Given the description of an element on the screen output the (x, y) to click on. 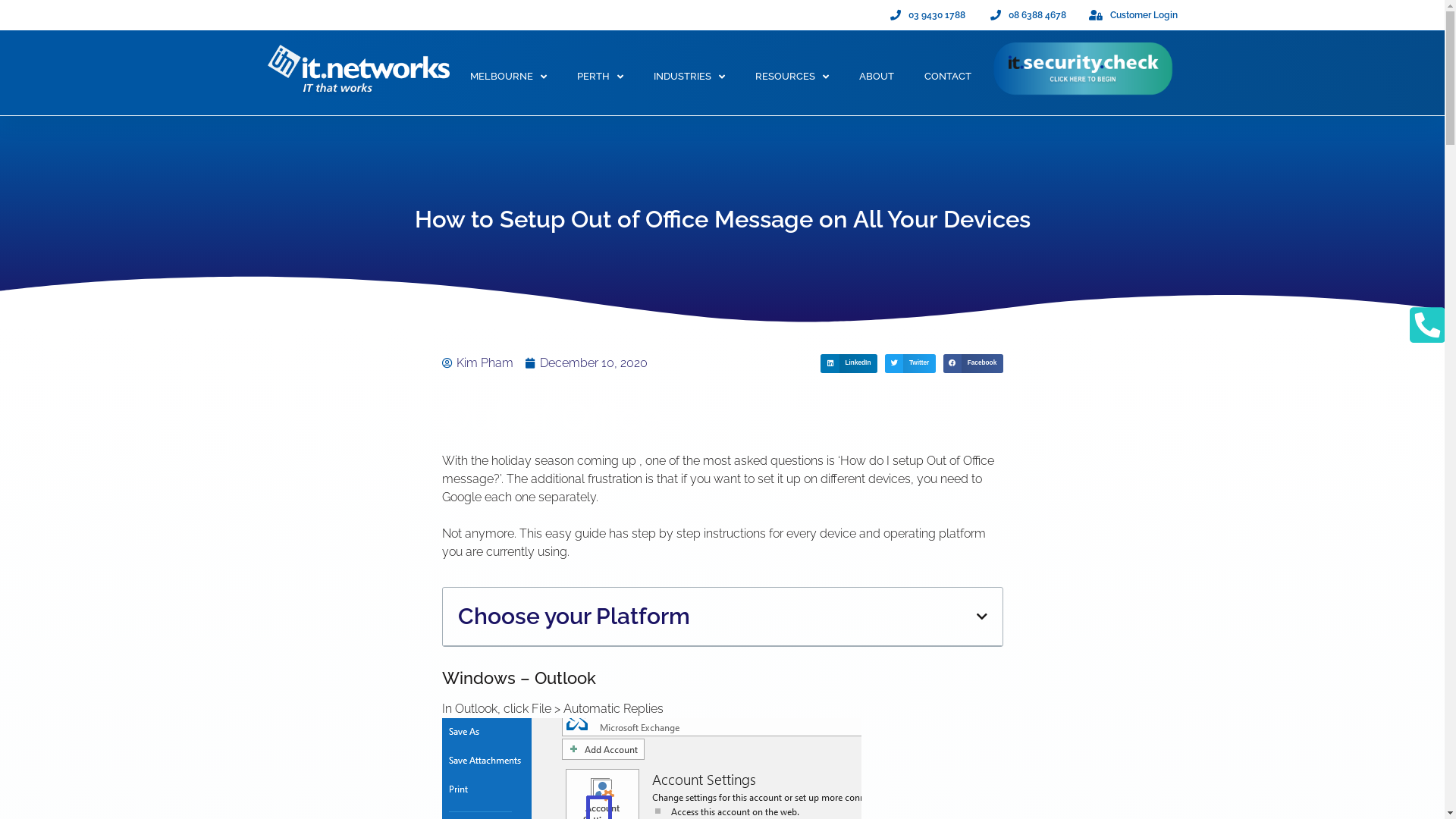
Kim Pham Element type: text (476, 363)
December 10, 2020 Element type: text (585, 363)
CONTACT Element type: text (947, 76)
INDUSTRIES Element type: text (688, 76)
ABOUT Element type: text (876, 76)
PERTH Element type: text (600, 76)
RESOURCES Element type: text (791, 76)
08 6388 4678 Element type: text (1026, 14)
03 9430 1788 Element type: text (926, 14)
Customer Login Element type: text (1132, 14)
MELBOURNE Element type: text (508, 76)
